Given the description of an element on the screen output the (x, y) to click on. 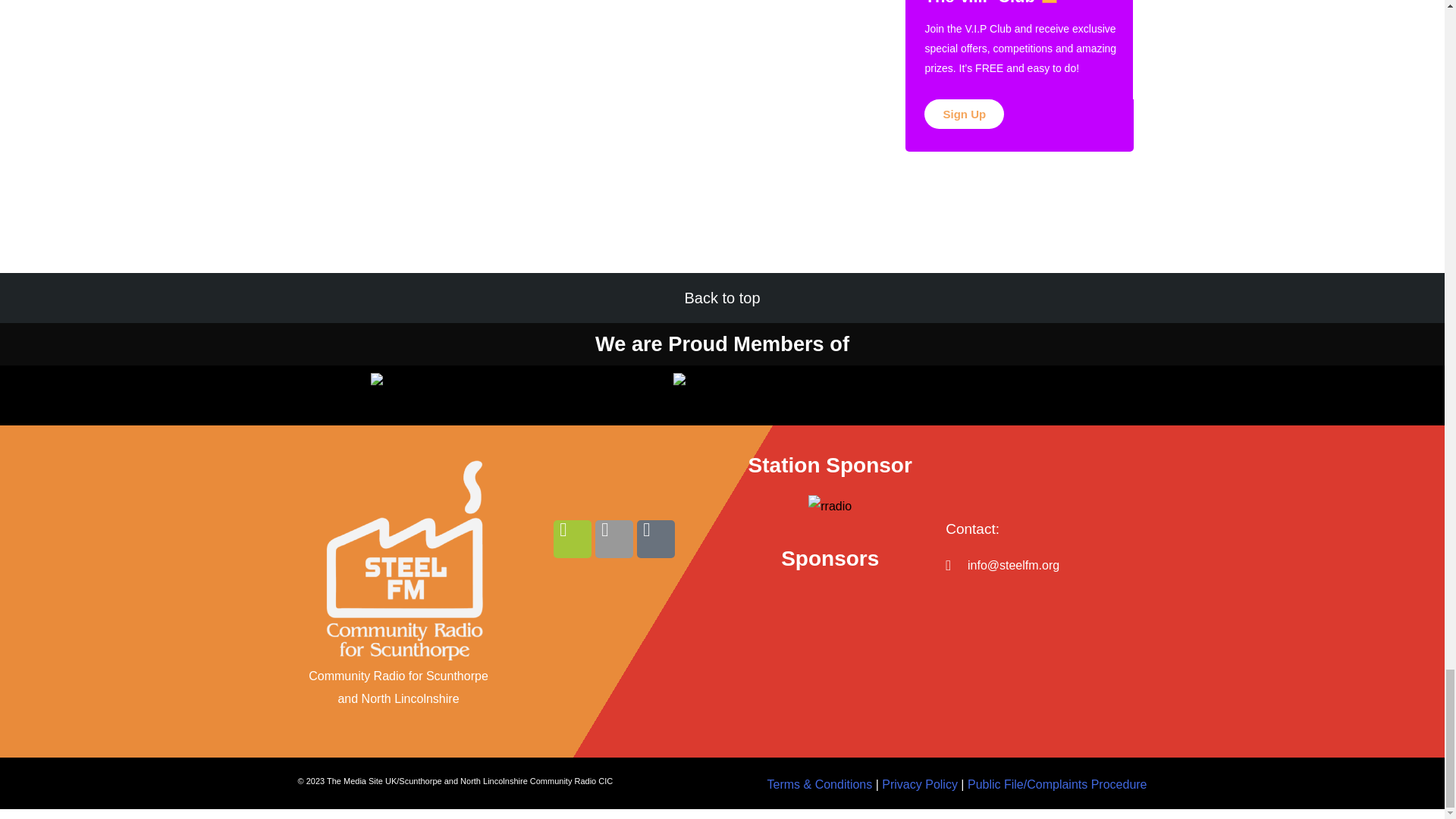
rradio (829, 506)
Page 1 (505, 780)
